Given the description of an element on the screen output the (x, y) to click on. 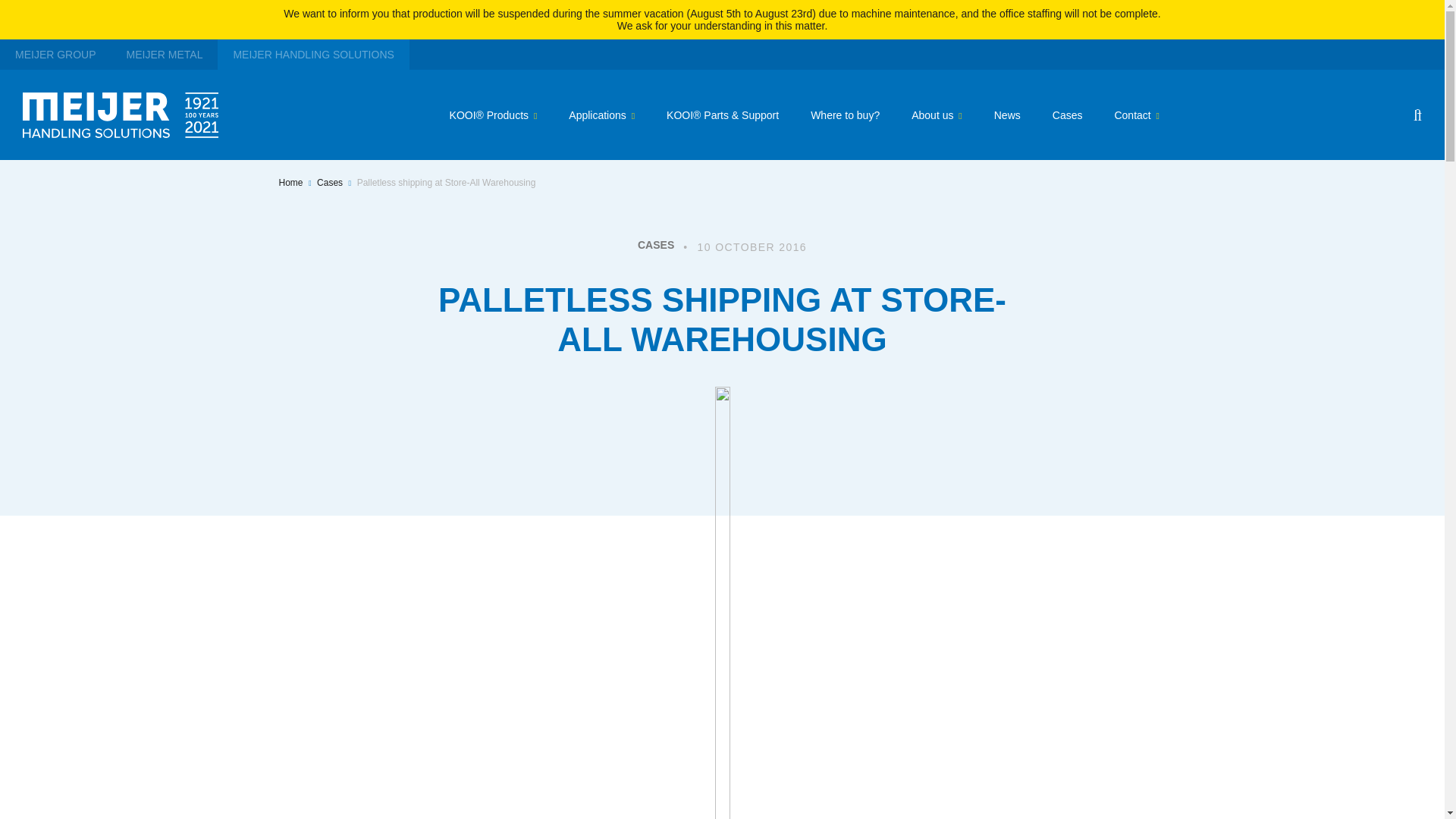
MEIJER GROUP (56, 54)
MEIJER HANDLING SOLUTIONS (312, 54)
MEIJER METAL (165, 54)
